Given the description of an element on the screen output the (x, y) to click on. 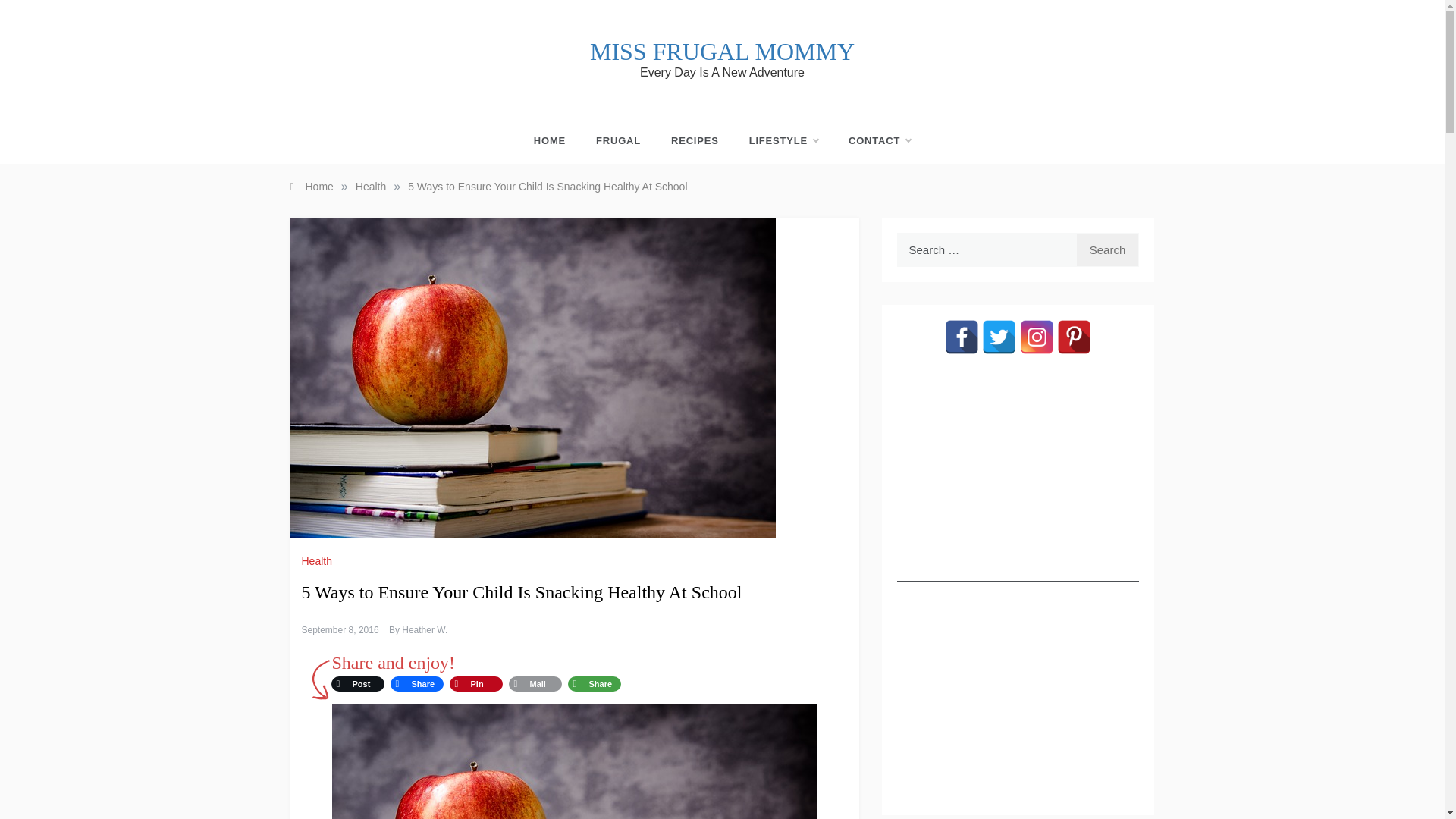
Advertisement (1017, 687)
MISS FRUGAL MOMMY (721, 51)
LIFESTYLE (782, 140)
HOME (557, 140)
Health (370, 186)
Home (311, 186)
Facebook (961, 336)
Pinterest (475, 683)
Heather W. (423, 629)
Pinterest (1073, 336)
RECIPES (694, 140)
Search (1107, 249)
More Options (593, 683)
CONTACT (871, 140)
FRUGAL (618, 140)
